Given the description of an element on the screen output the (x, y) to click on. 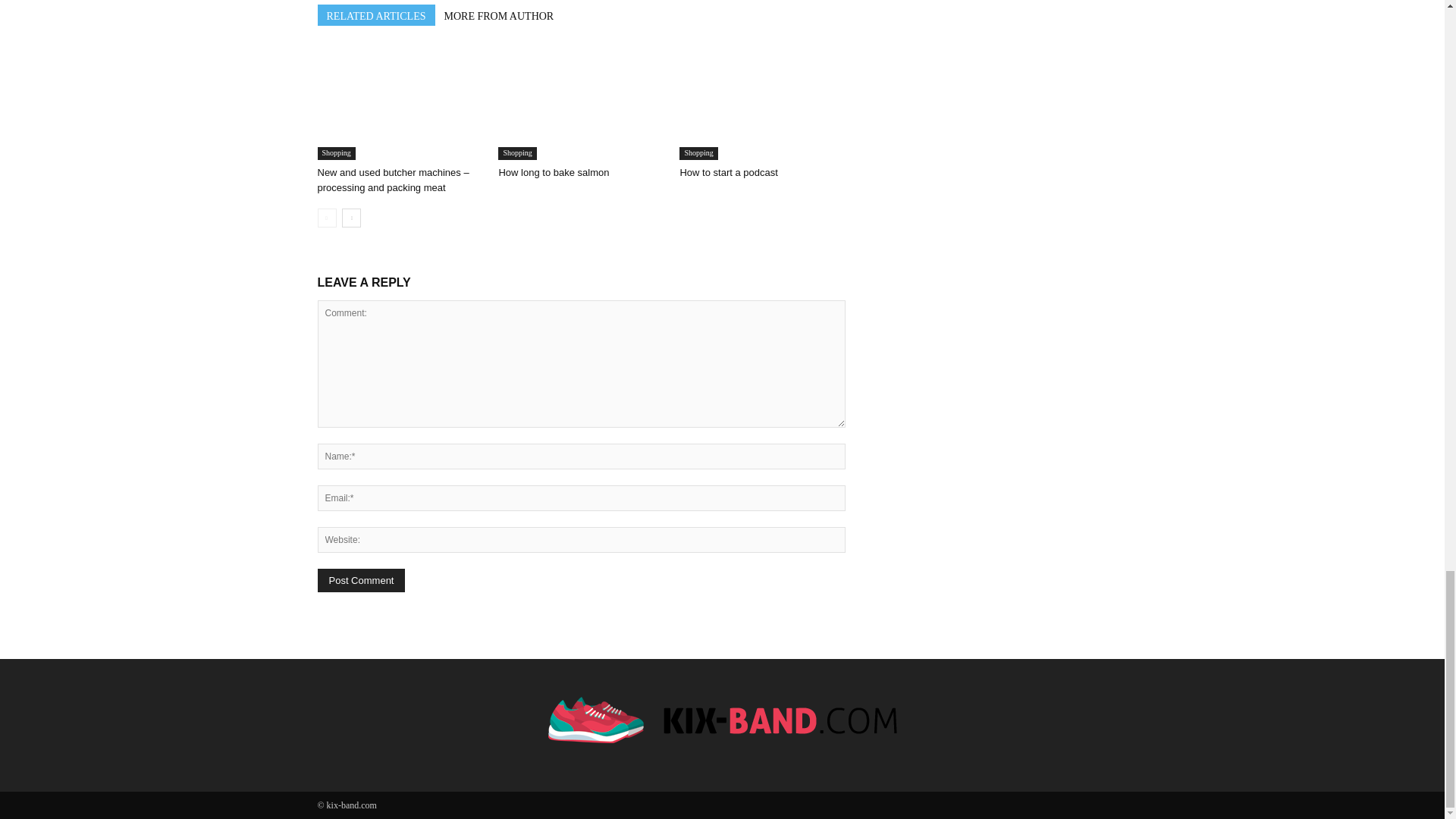
Post Comment (360, 580)
How long to bake salmon (580, 102)
How long to bake salmon (552, 172)
How to start a podcast (761, 102)
How to start a podcast (728, 172)
